Given the description of an element on the screen output the (x, y) to click on. 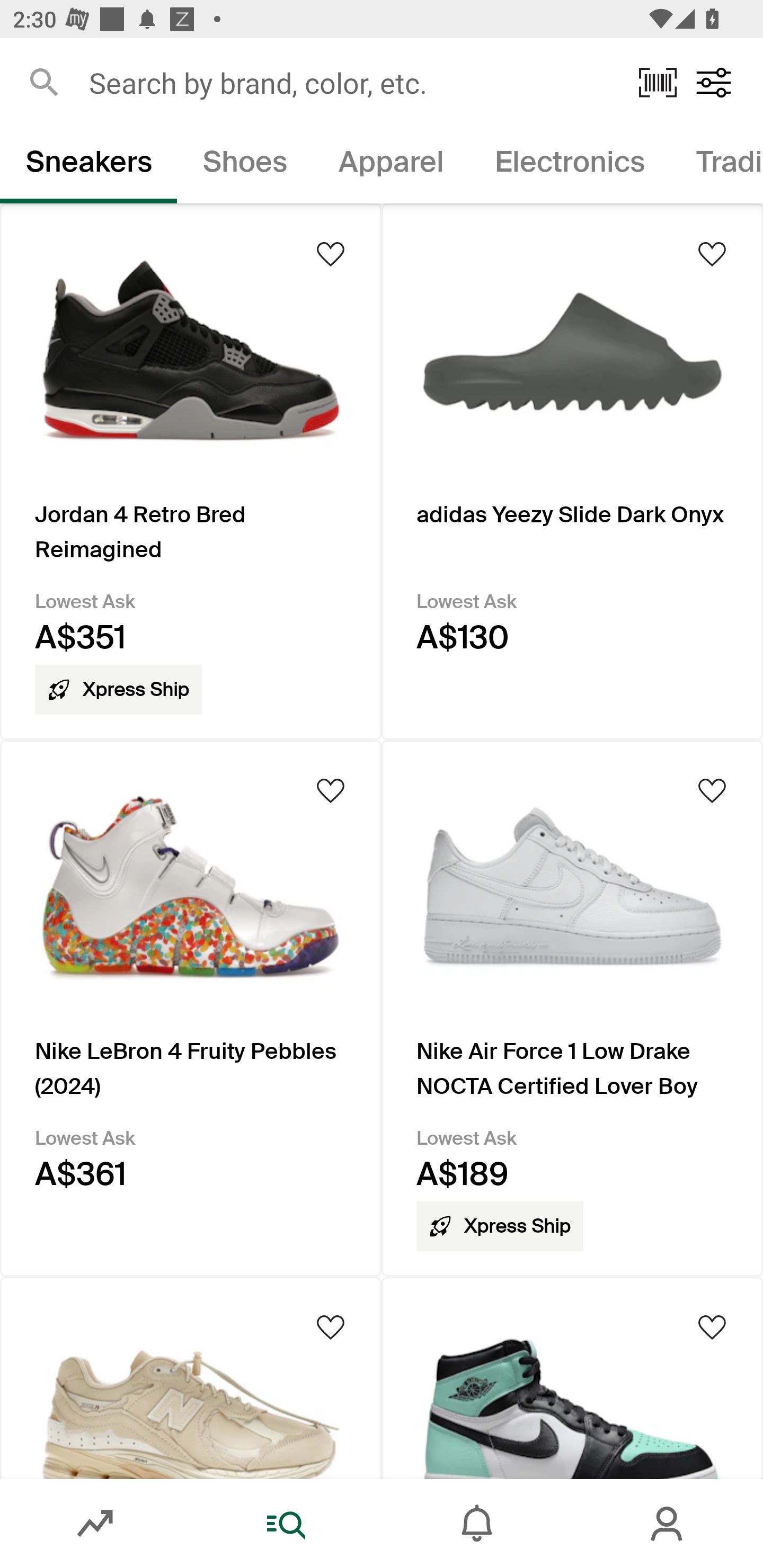
Search by brand, color, etc. (351, 82)
Shoes (244, 165)
Apparel (390, 165)
Electronics (569, 165)
Product Image (190, 1377)
Product Image (572, 1377)
Market (95, 1523)
Inbox (476, 1523)
Account (667, 1523)
